Given the description of an element on the screen output the (x, y) to click on. 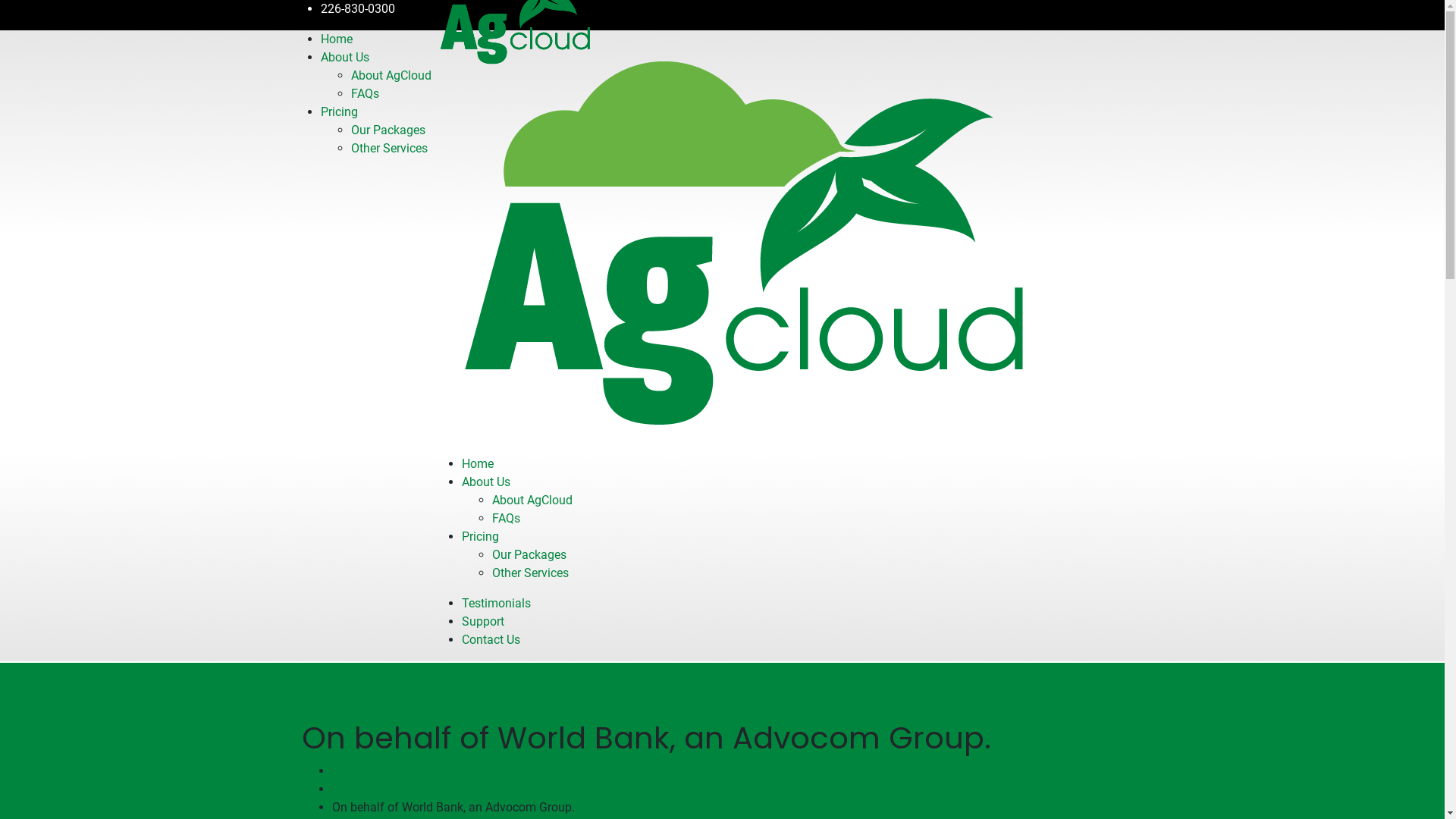
About Us Element type: text (344, 57)
FAQs Element type: text (505, 518)
Pricing Element type: text (338, 111)
Home Element type: text (348, 770)
226-830-0300 Element type: text (357, 8)
Testimonials Element type: text (495, 603)
Case Studies Element type: text (366, 788)
About Us Element type: text (485, 481)
Our Packages Element type: text (387, 129)
Other Services Element type: text (388, 148)
Support Element type: text (482, 621)
Other Services Element type: text (529, 572)
Home Element type: text (335, 38)
Our Packages Element type: text (528, 554)
Contact Us Element type: text (490, 639)
About AgCloud Element type: text (531, 499)
FAQs Element type: text (364, 93)
About AgCloud Element type: text (390, 75)
Pricing Element type: text (479, 536)
Home Element type: text (476, 463)
